Given the description of an element on the screen output the (x, y) to click on. 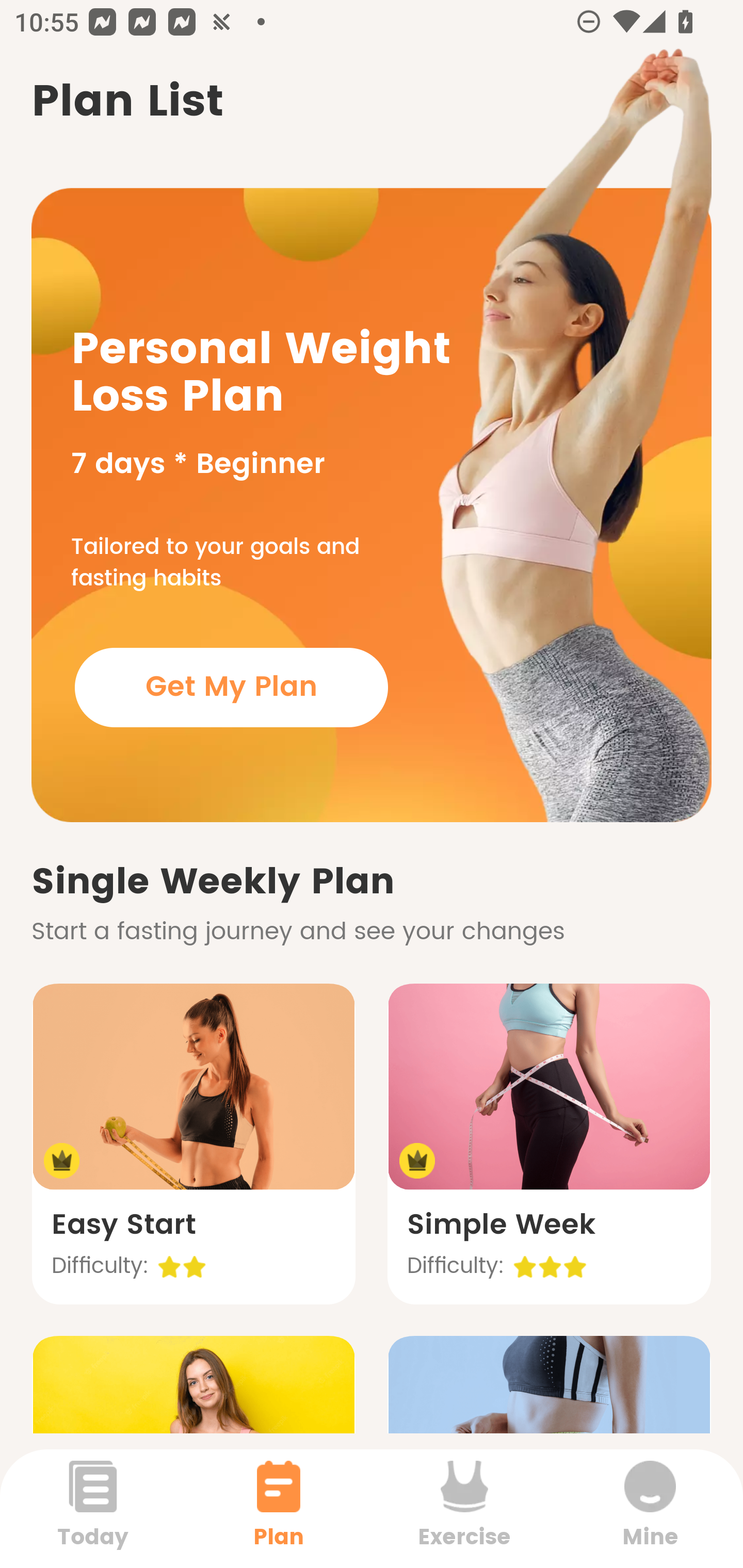
Get My Plan (231, 687)
Easy Start Difficulty: 2.0 (193, 1143)
Simple Week Difficulty: 3.0 (549, 1143)
Today (92, 1508)
Exercise (464, 1508)
Mine (650, 1508)
